Given the description of an element on the screen output the (x, y) to click on. 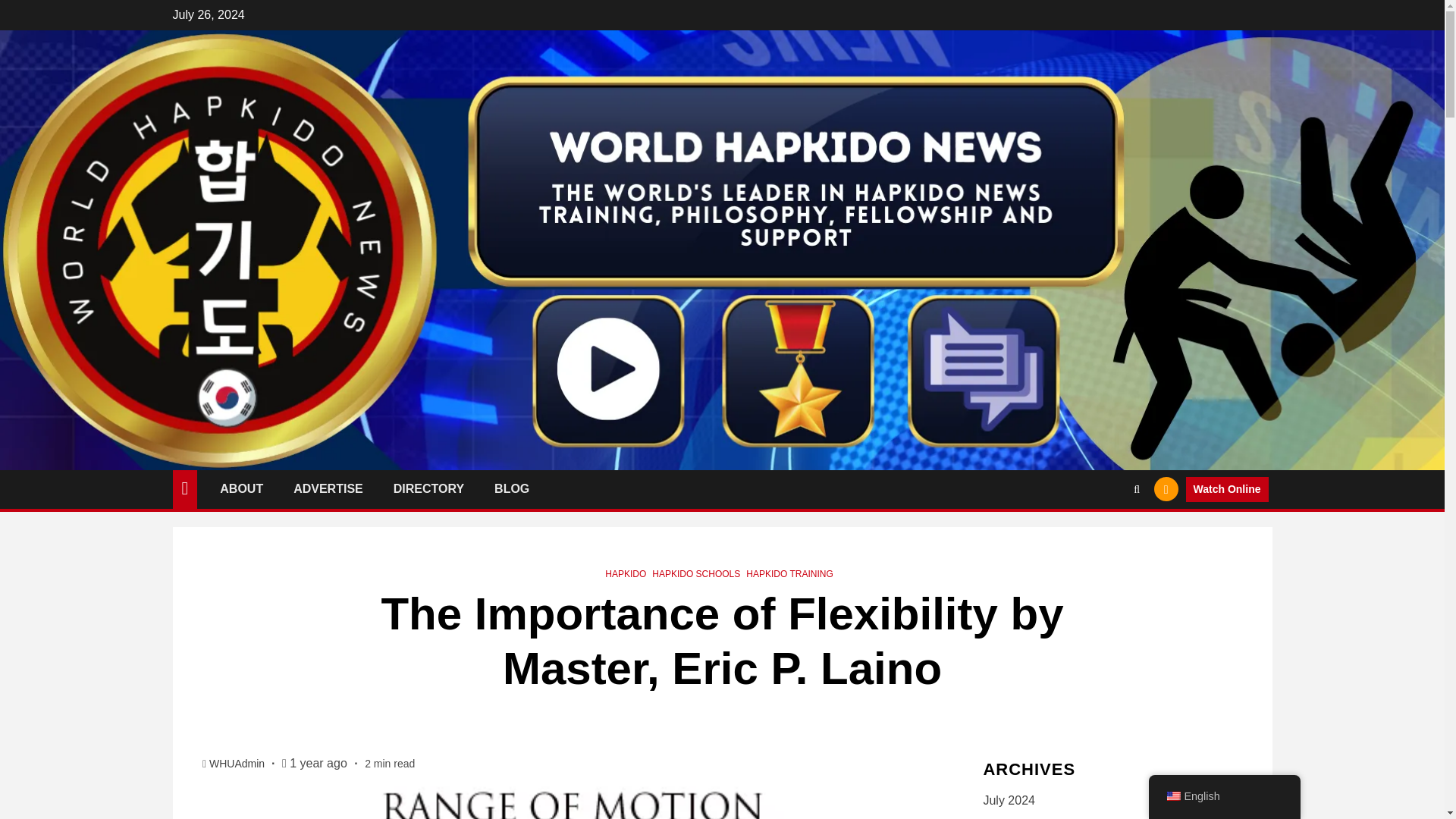
Search (1106, 534)
Watch Online (1227, 489)
HAPKIDO TRAINING (788, 573)
WHUAdmin (238, 763)
ADVERTISE (328, 488)
BLOG (512, 488)
HAPKIDO SCHOOLS (695, 573)
ABOUT (241, 488)
English (1172, 795)
DIRECTORY (428, 488)
HAPKIDO (625, 573)
